Given the description of an element on the screen output the (x, y) to click on. 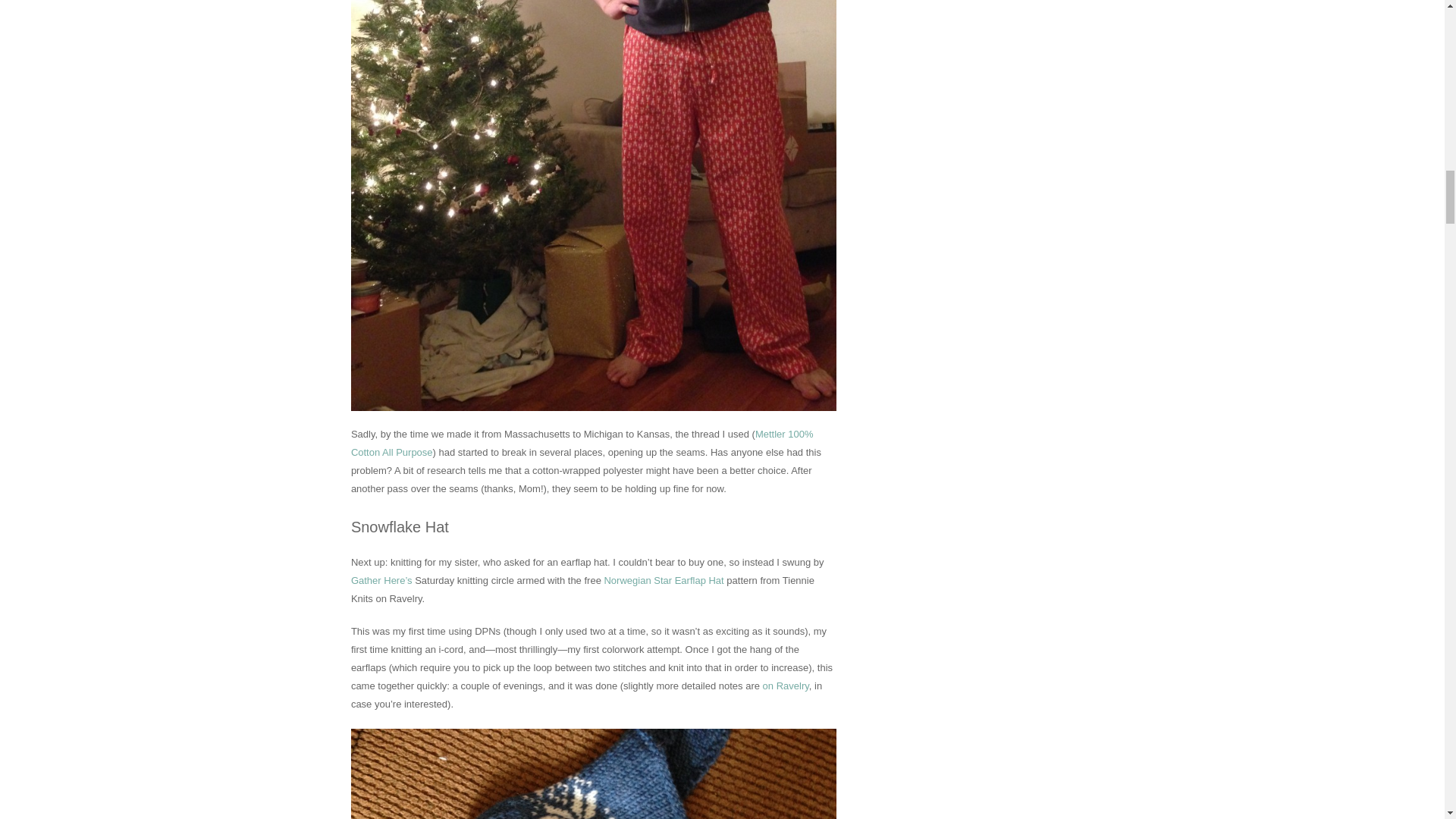
Norwegian Star Earflap Hat (663, 580)
on Ravelry (785, 685)
